Given the description of an element on the screen output the (x, y) to click on. 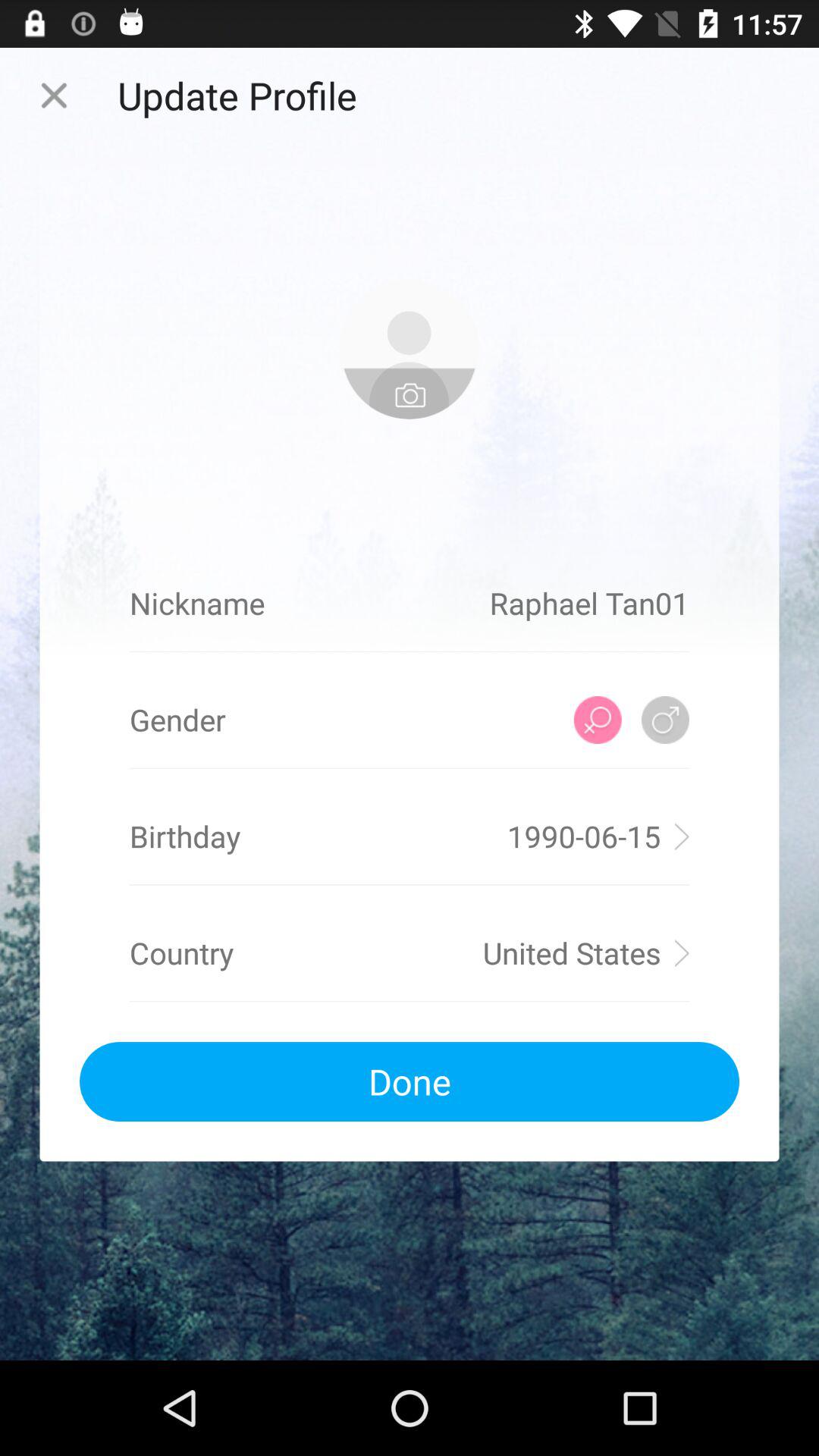
choose male gender (665, 719)
